Given the description of an element on the screen output the (x, y) to click on. 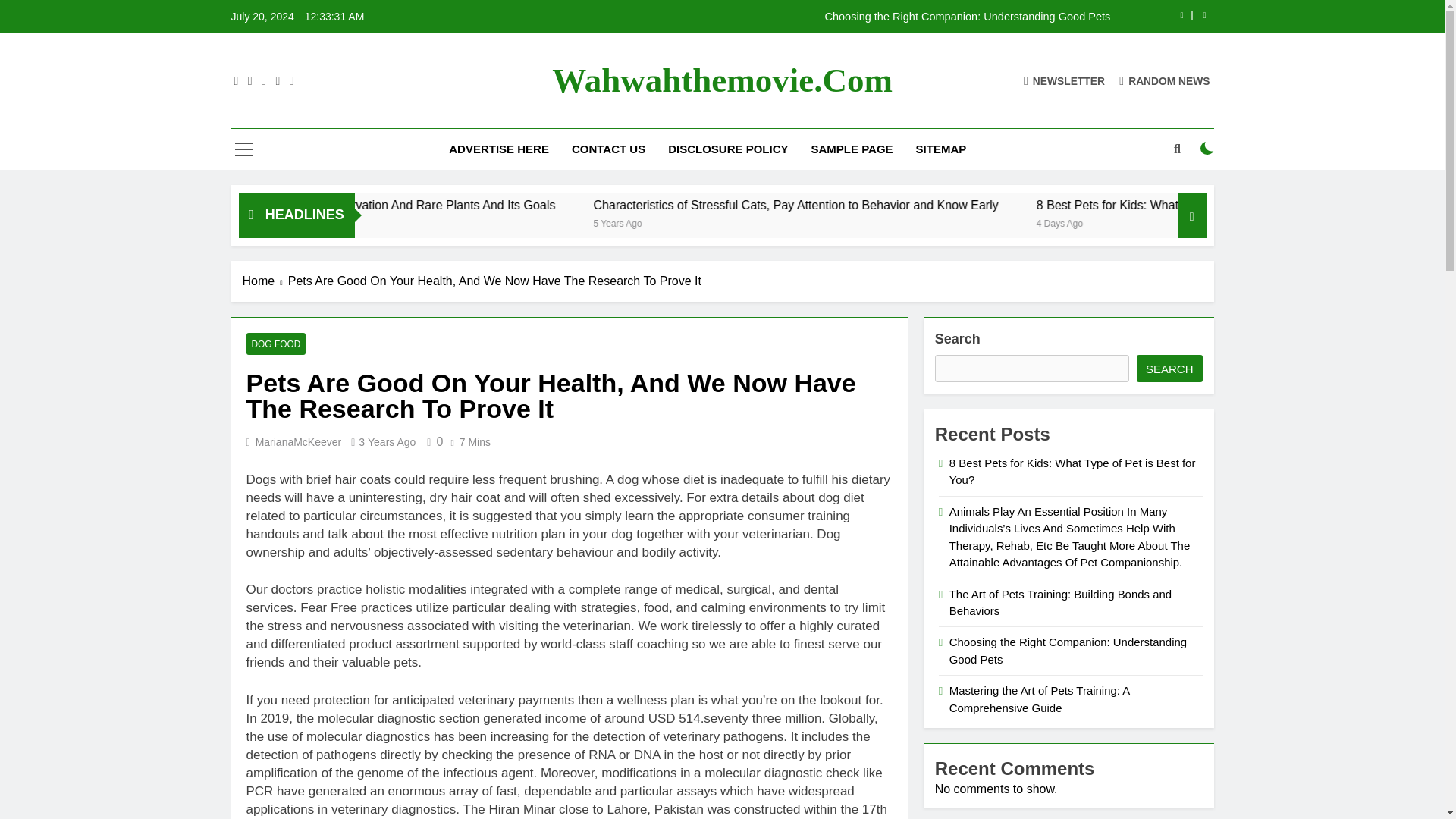
5 Years Ago (818, 222)
on (1206, 148)
SITEMAP (941, 148)
10 Largest Animals in the World of All Time (293, 205)
RANDOM NEWS (1164, 80)
NEWSLETTER (1064, 80)
5 Years Ago (509, 222)
SAMPLE PAGE (851, 148)
ADVERTISE HERE (499, 148)
Choosing the Right Companion: Understanding Good Pets (817, 16)
Animal Preservation And Rare Plants And Its Goals (582, 205)
10 Largest Animals in the World of All Time (339, 205)
CONTACT US (608, 148)
Choosing the Right Companion: Understanding Good Pets (817, 16)
